Given the description of an element on the screen output the (x, y) to click on. 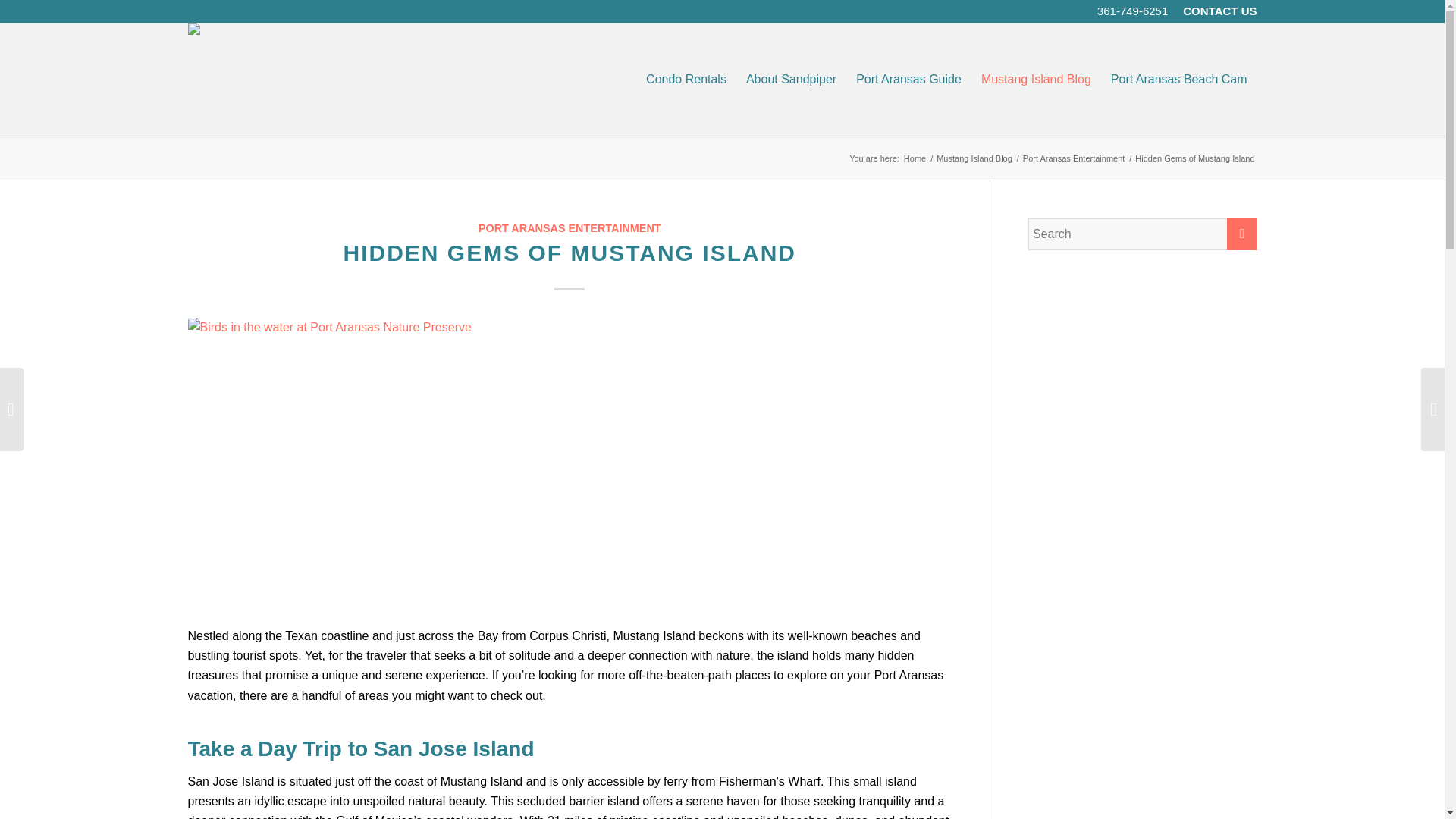
Port Aransas Beach Cam (1178, 79)
Mustang Island Blog (974, 158)
Home (914, 158)
CONTACT US (1219, 11)
361-749-6251 (1132, 10)
Port Aransas Guide (908, 79)
About Sandpiper (790, 79)
Sandpiper Condominiums (914, 158)
Port Aransas Entertainment (1073, 158)
Mustang Island Blog (1035, 79)
